Given the description of an element on the screen output the (x, y) to click on. 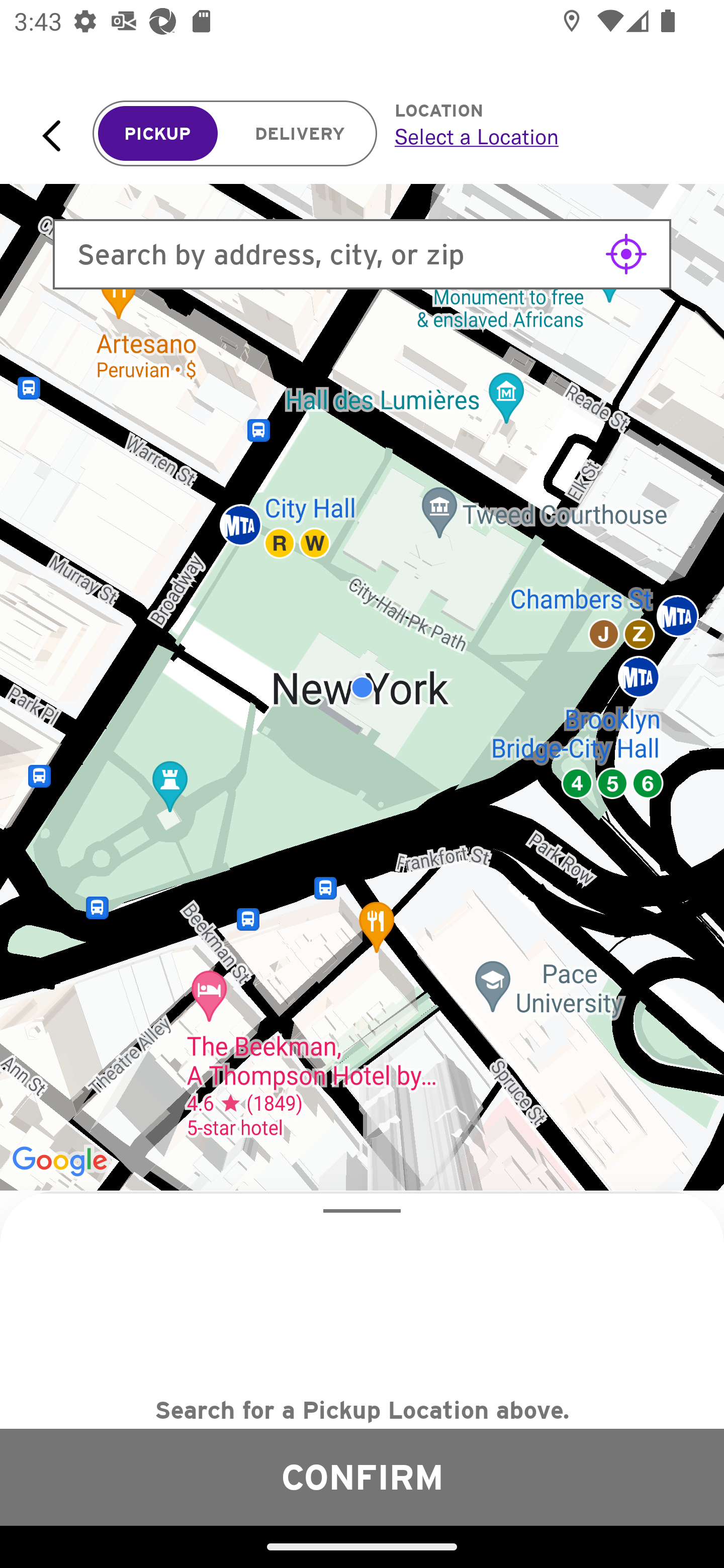
PICKUP (157, 133)
DELIVERY (299, 133)
Select a Location (536, 136)
Search by address, city, or zip (361, 254)
CONFIRM (362, 1476)
